Given the description of an element on the screen output the (x, y) to click on. 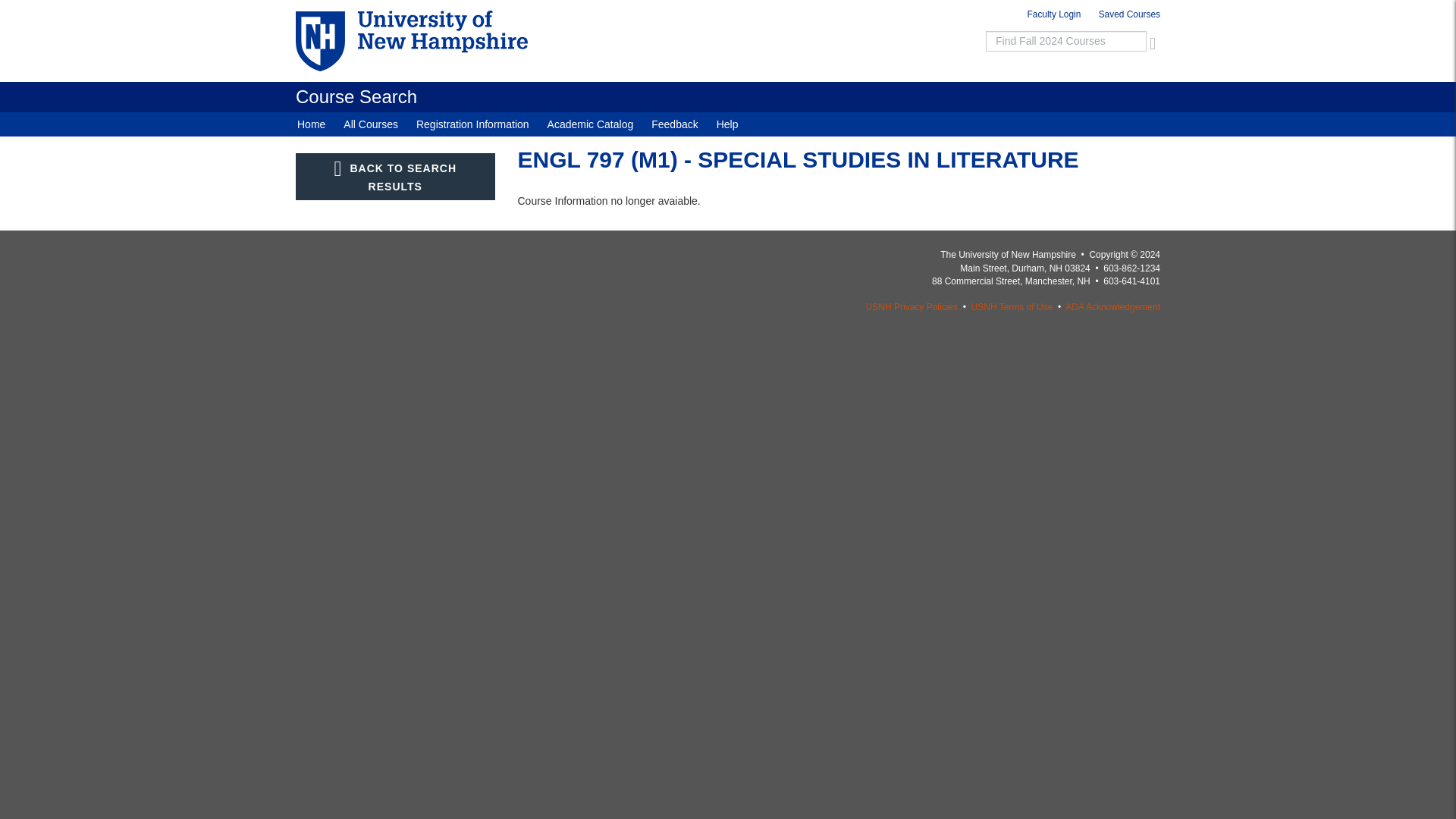
All Courses (370, 124)
University of New Hampshire Homepage (432, 40)
Faculty Login (1054, 16)
Skip to main content (687, 4)
  BACK TO SEARCH RESULTS (395, 176)
Home (355, 96)
USNH Terms of Use (1011, 307)
Registration Information (472, 124)
Academic Catalog (590, 124)
Help (727, 124)
